Given the description of an element on the screen output the (x, y) to click on. 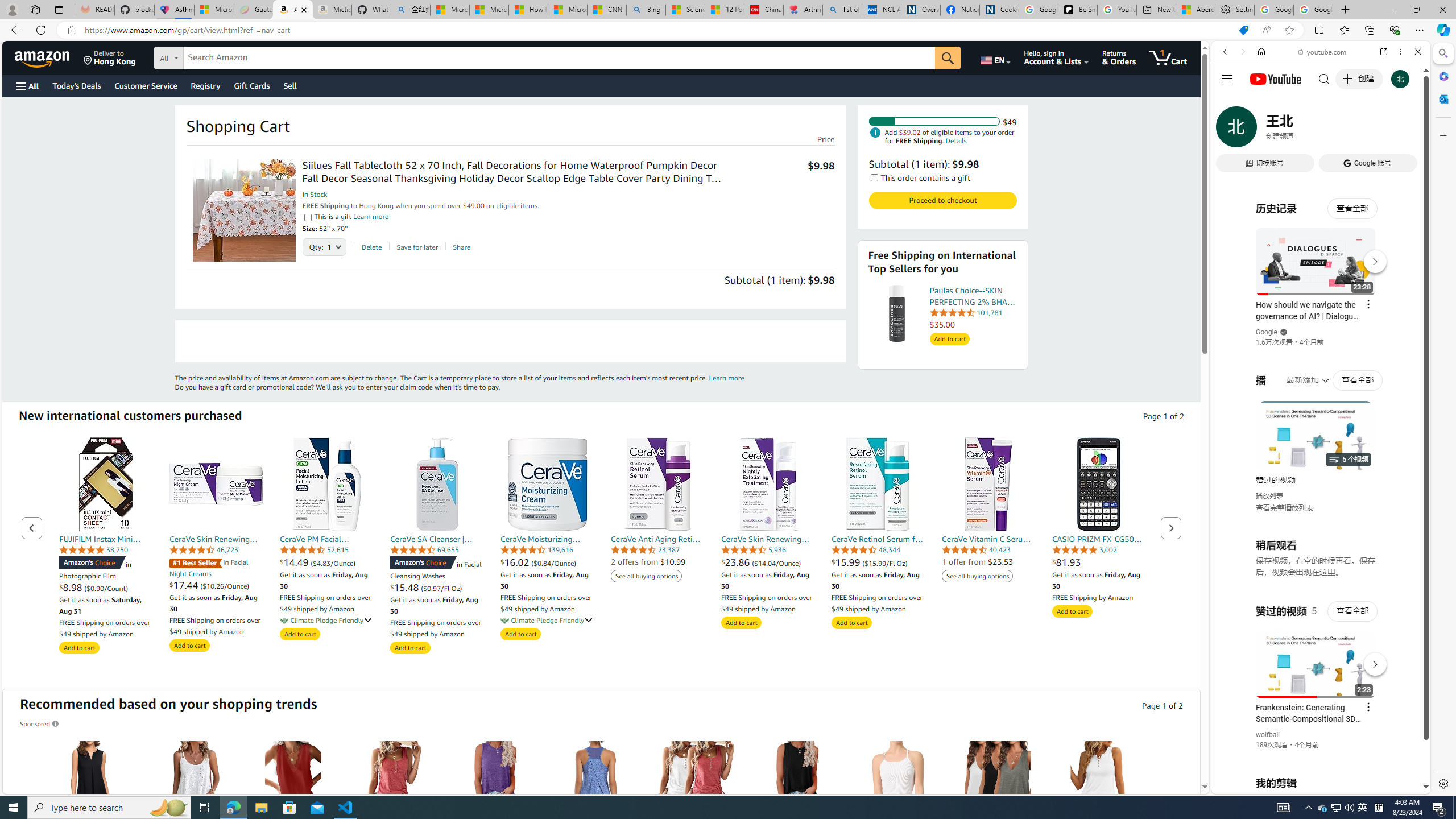
you (1315, 755)
Returns & Orders (1119, 57)
Amazon (43, 57)
Today's Deals (76, 85)
